Given the description of an element on the screen output the (x, y) to click on. 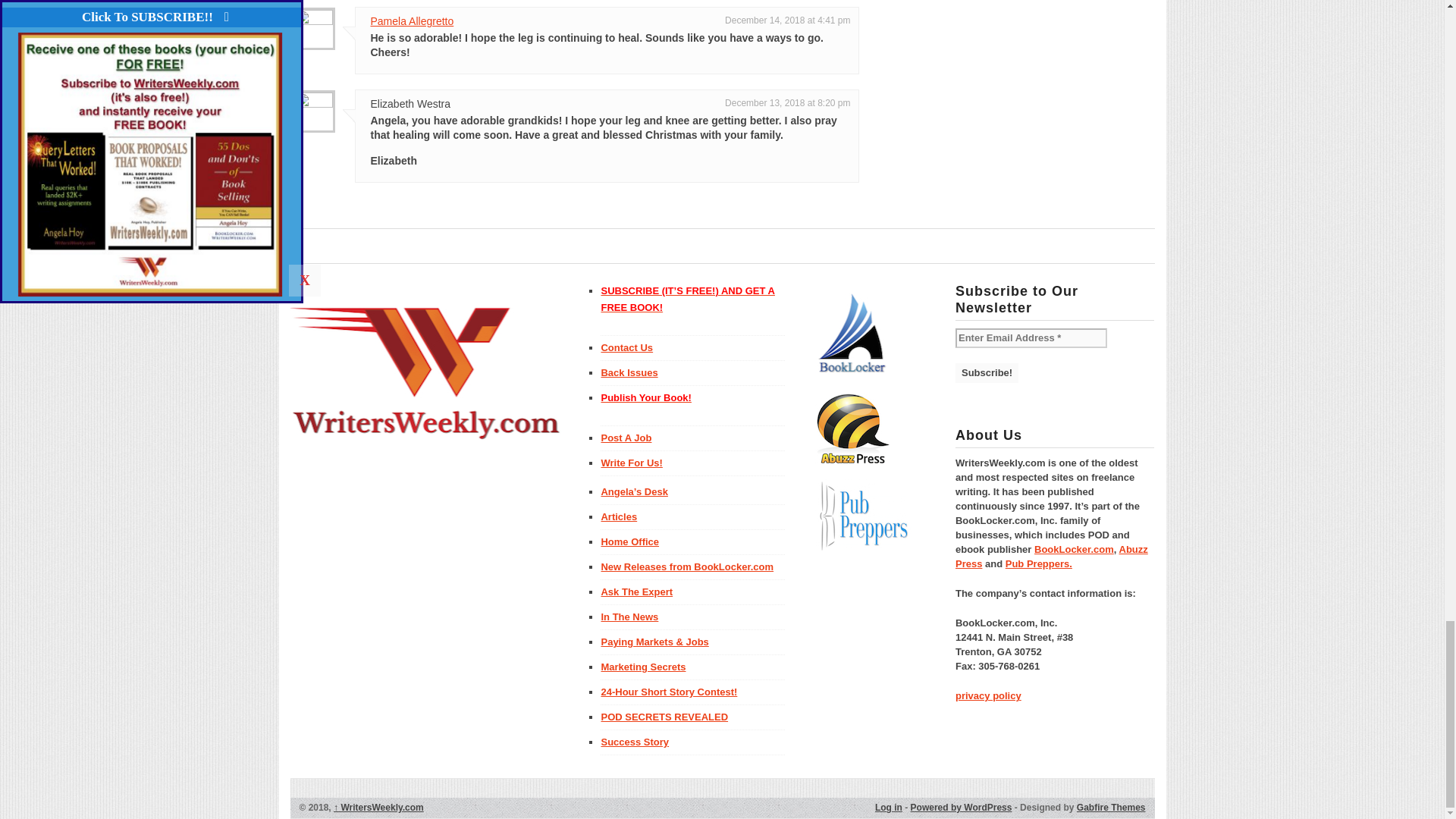
Enter Email Address (1030, 338)
Semantic Personal Publishing Platform (961, 807)
Subscribe! (986, 373)
Premium WordPress Themes (1111, 807)
WritersWeekly.com (378, 807)
